Given the description of an element on the screen output the (x, y) to click on. 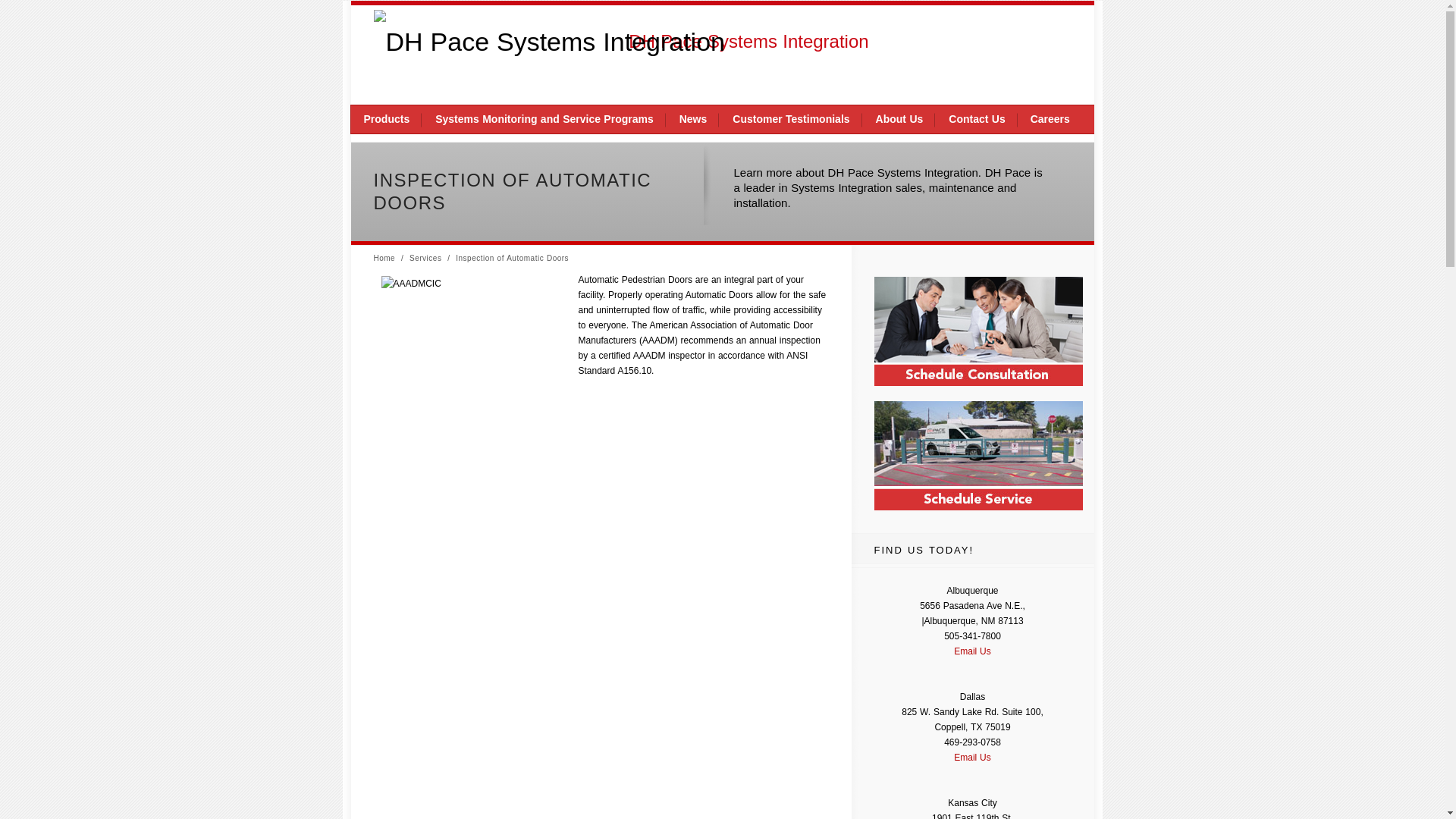
Careers (1049, 119)
Customer Testimonials (790, 119)
Contact Us (976, 119)
News (693, 119)
Systems Monitoring and Service Programs (544, 119)
About Us (899, 119)
Products (386, 119)
Services (425, 257)
